Given the description of an element on the screen output the (x, y) to click on. 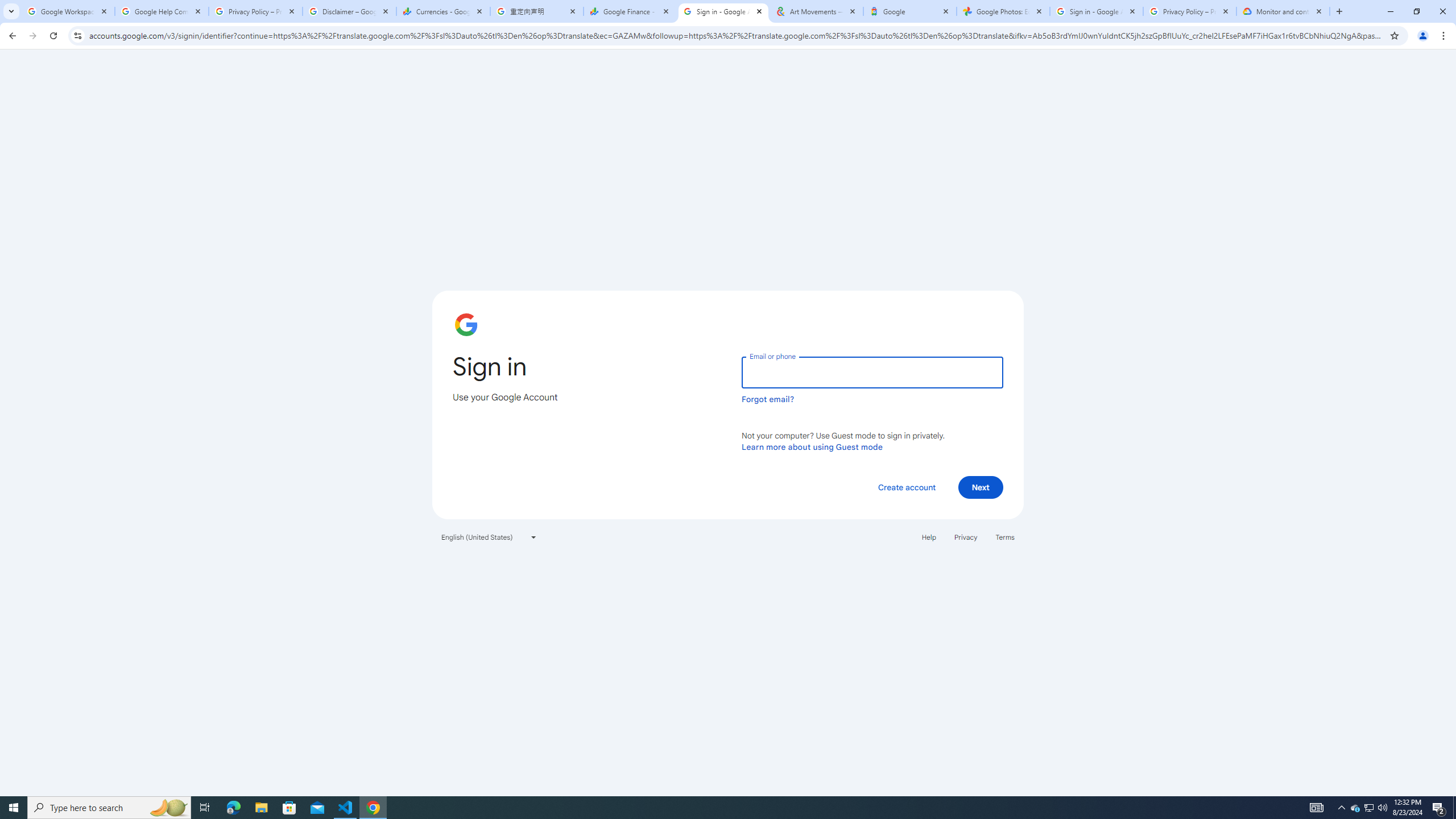
Currencies - Google Finance (443, 11)
Forgot email? (767, 398)
Terms (1005, 536)
Help (928, 536)
Learn more about using Guest mode (812, 446)
Sign in - Google Accounts (722, 11)
